Given the description of an element on the screen output the (x, y) to click on. 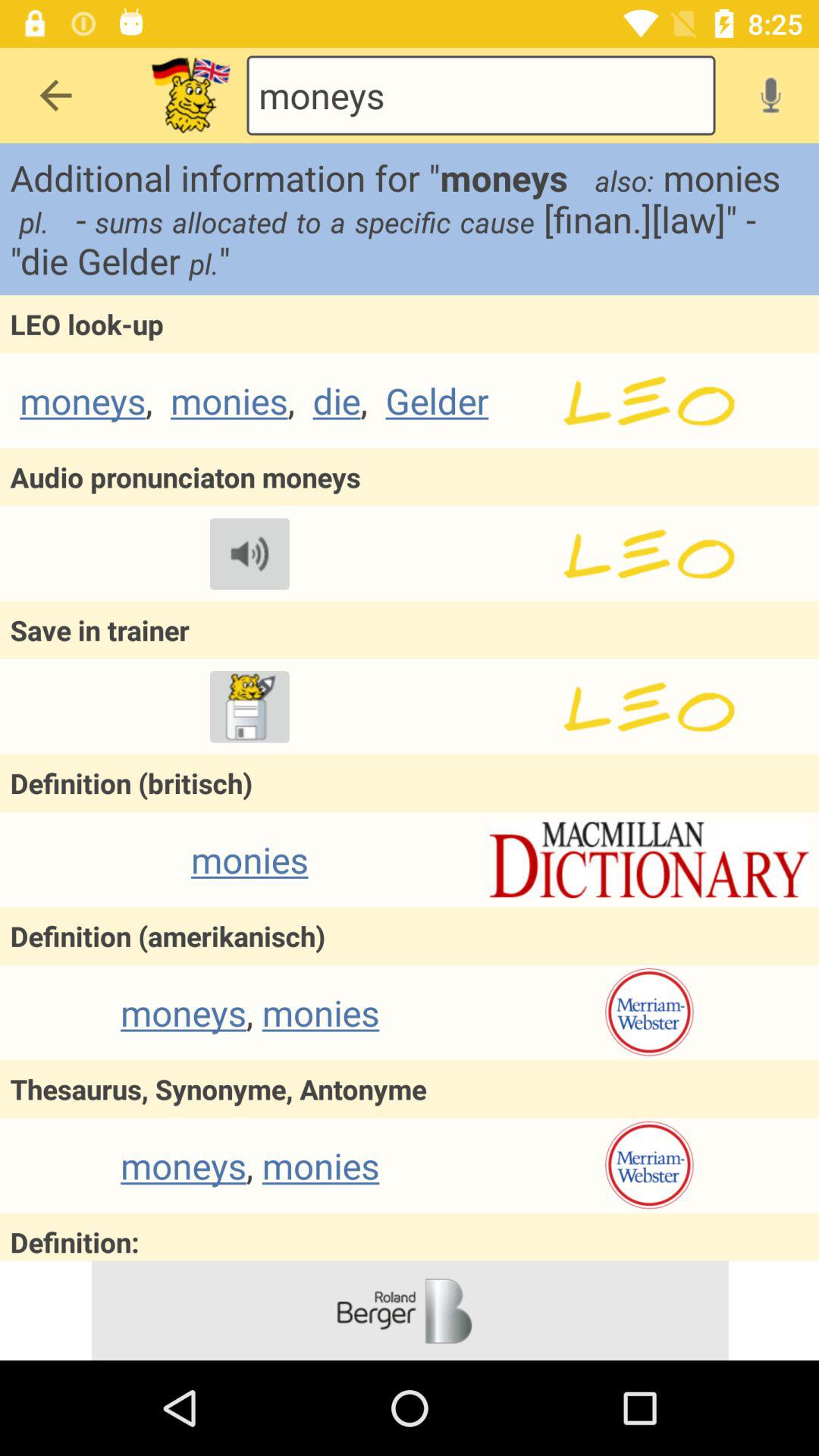
see the options (190, 95)
